Given the description of an element on the screen output the (x, y) to click on. 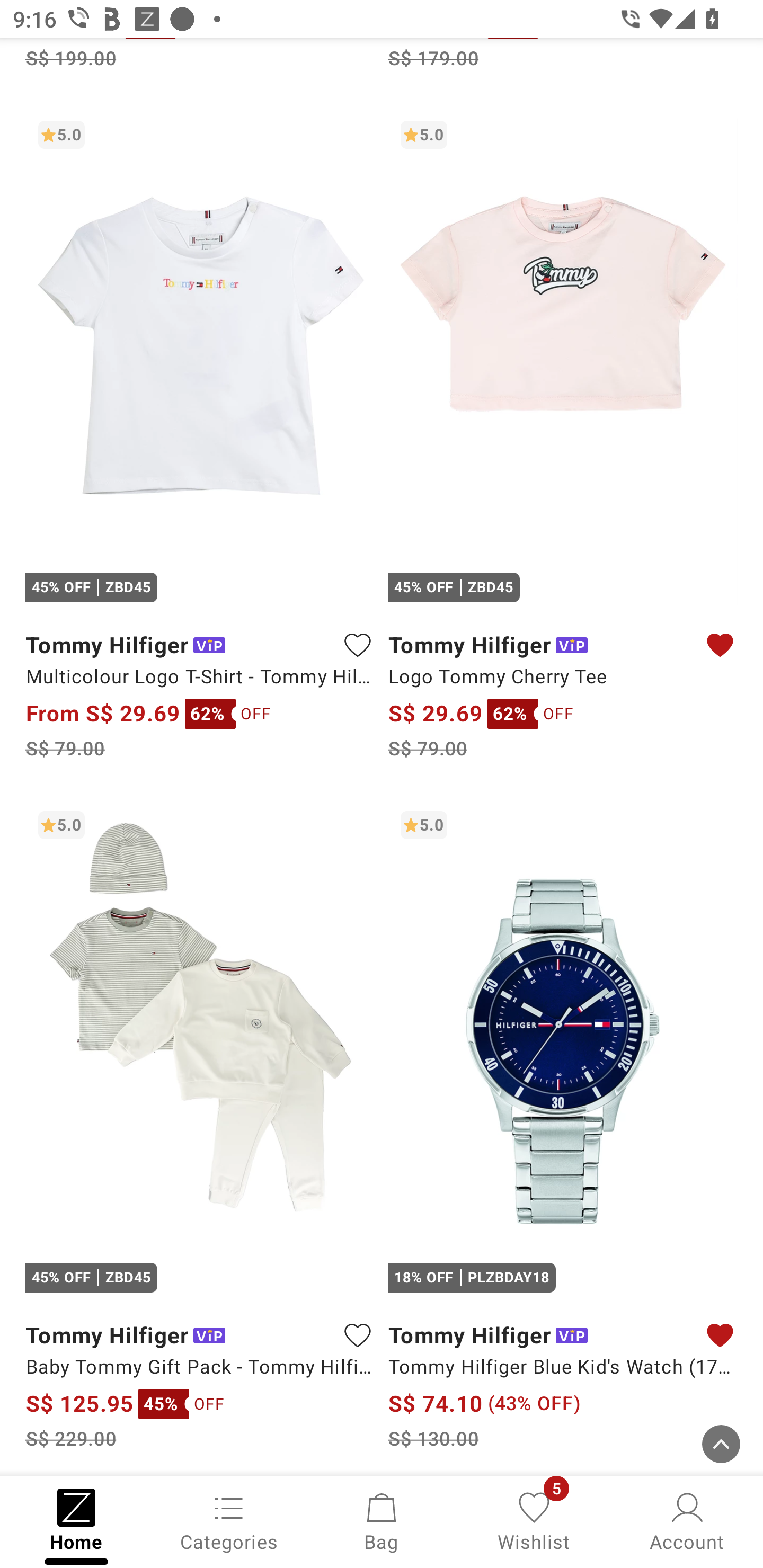
Categories (228, 1519)
Bag (381, 1519)
Wishlist, 5 new notifications Wishlist (533, 1519)
Account (686, 1519)
